Given the description of an element on the screen output the (x, y) to click on. 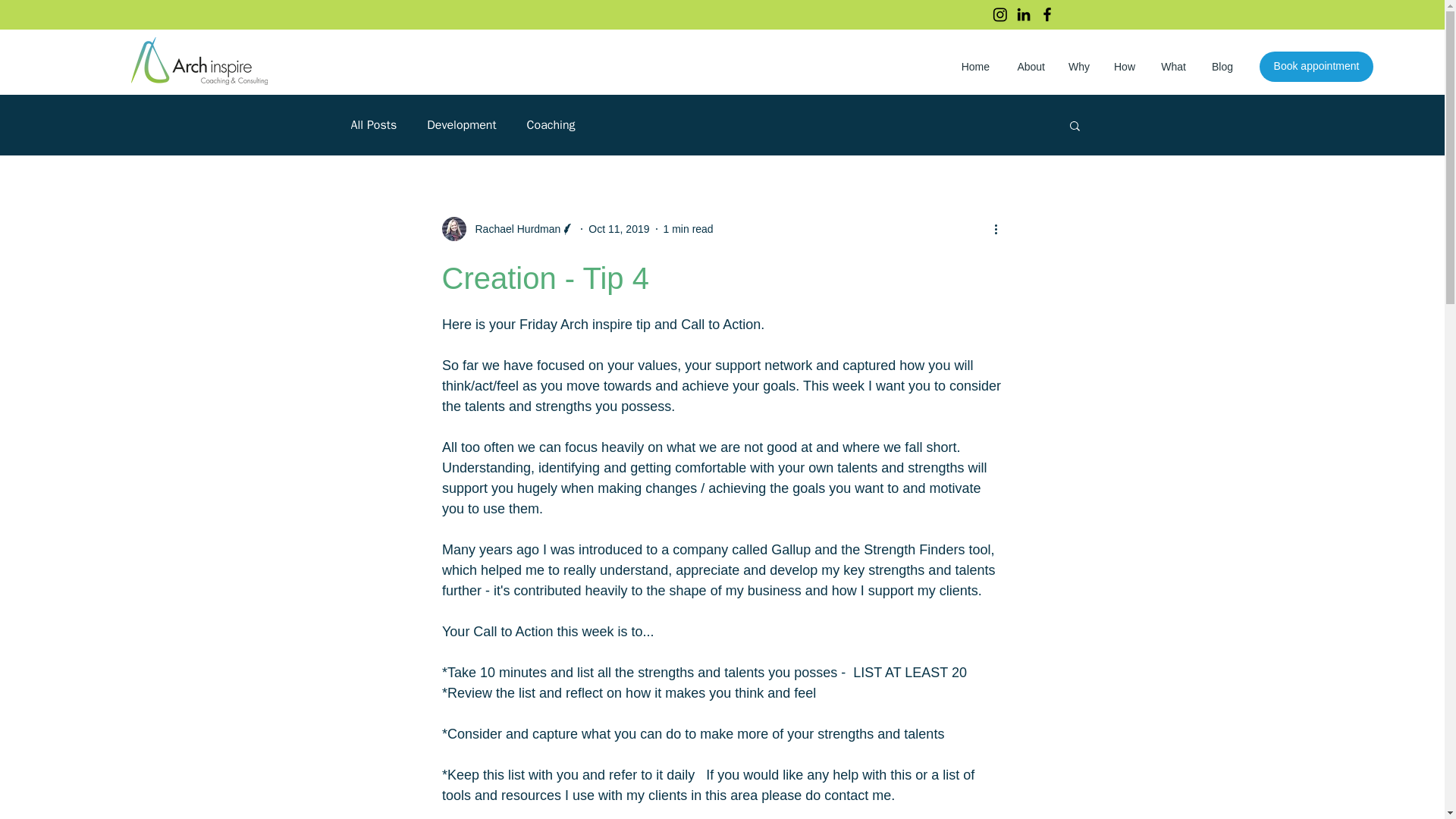
Coaching (551, 124)
1 min read (688, 228)
How (1123, 66)
About (1029, 66)
Development (461, 124)
All Posts (373, 124)
Home (972, 66)
Book appointment (1316, 66)
Blog (1220, 66)
Rachael Hurdman (508, 228)
